Given the description of an element on the screen output the (x, y) to click on. 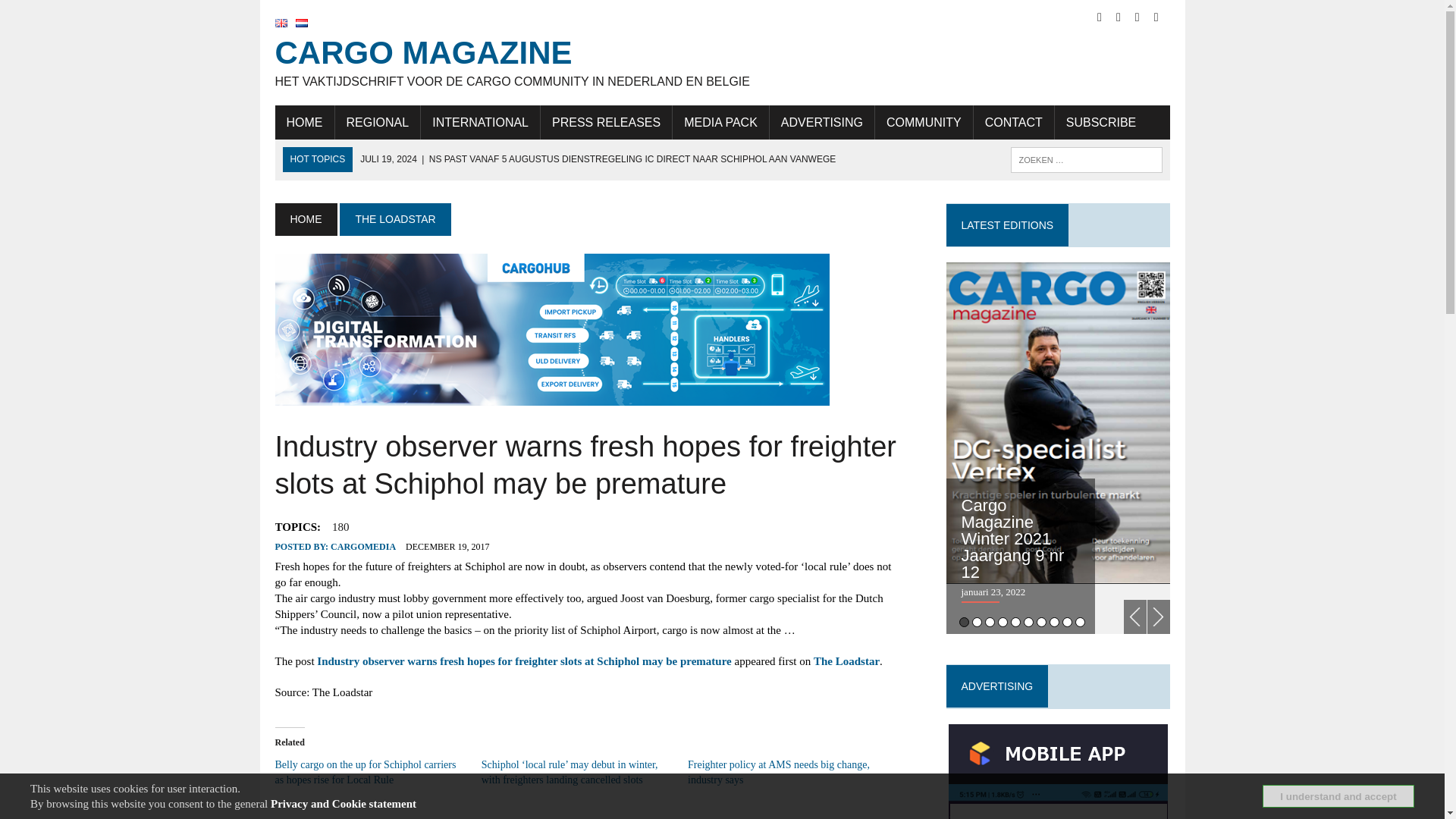
CARGOMEDIA (363, 546)
THE LOADSTAR (394, 219)
REGIONAL (377, 122)
HOME (305, 219)
English (280, 22)
CONTACT (1014, 122)
HOME (304, 122)
INTERNATIONAL (480, 122)
180 (340, 526)
MEDIA PACK (720, 122)
Zoeken (75, 14)
Nederlands (301, 22)
